Given the description of an element on the screen output the (x, y) to click on. 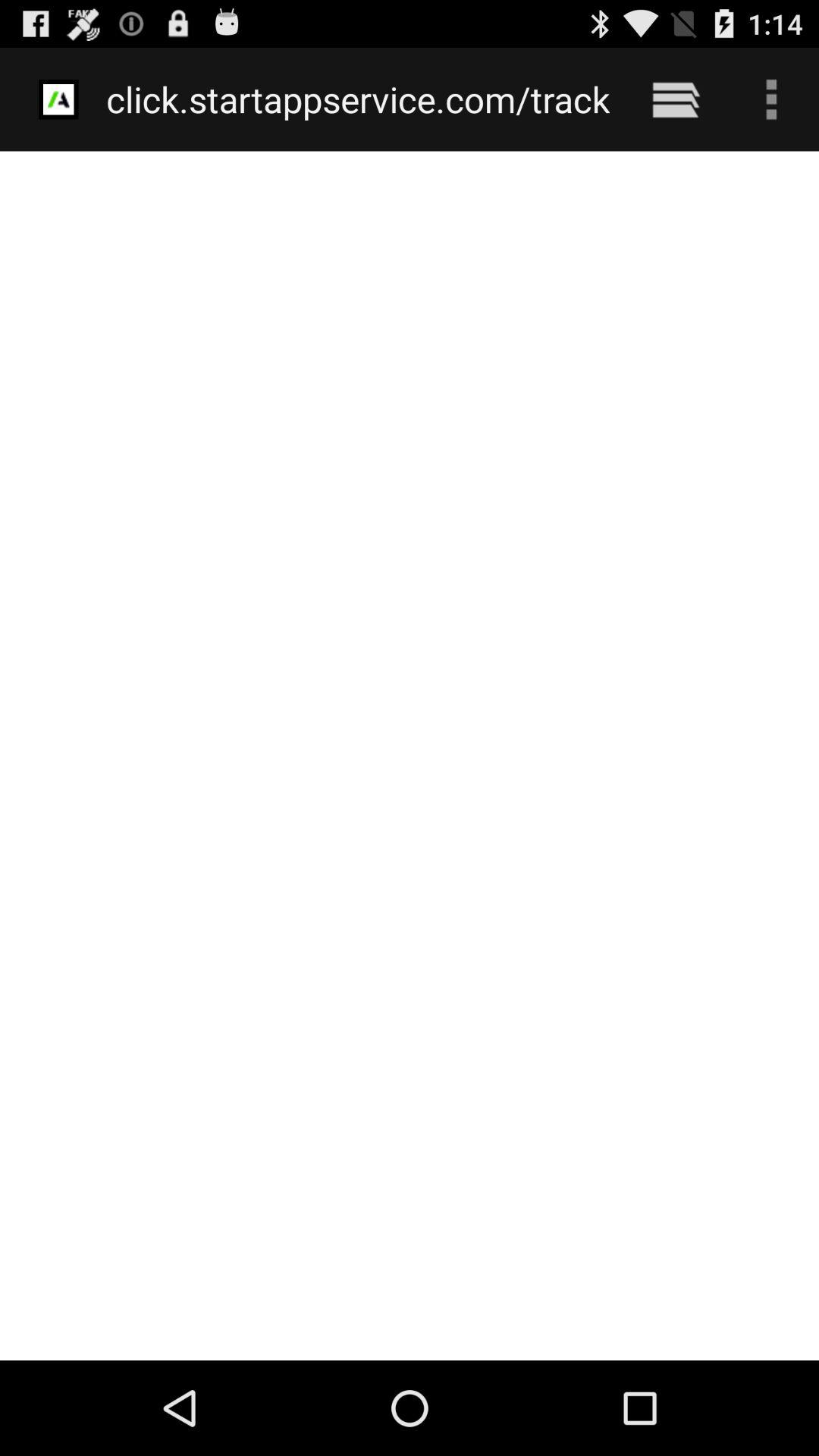
select the click startappservice com at the top (357, 99)
